Given the description of an element on the screen output the (x, y) to click on. 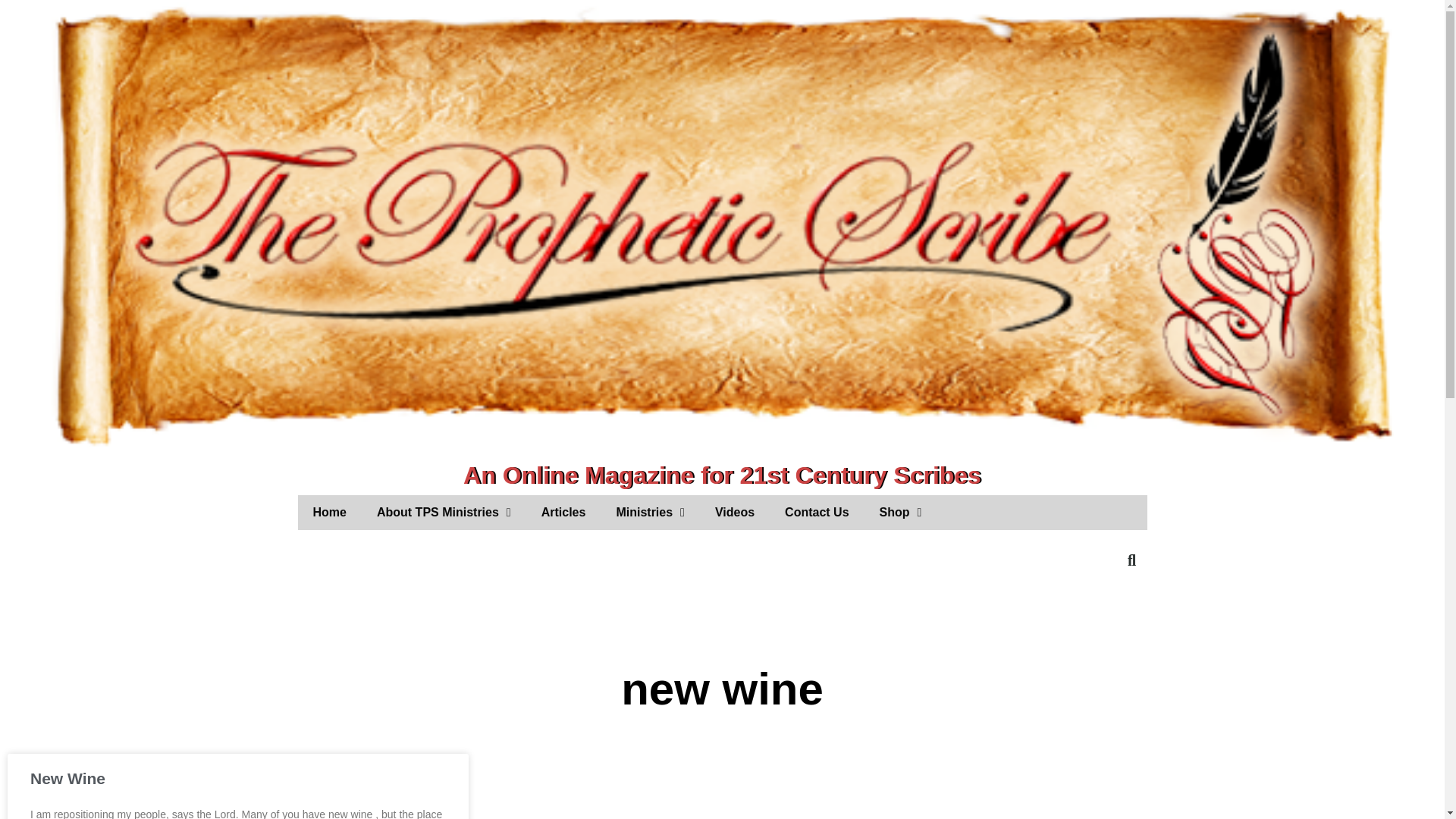
Home (329, 512)
About TPS Ministries (443, 512)
Shop (900, 512)
Articles (563, 512)
Contact Us (816, 512)
Ministries (649, 512)
Videos (735, 512)
